Given the description of an element on the screen output the (x, y) to click on. 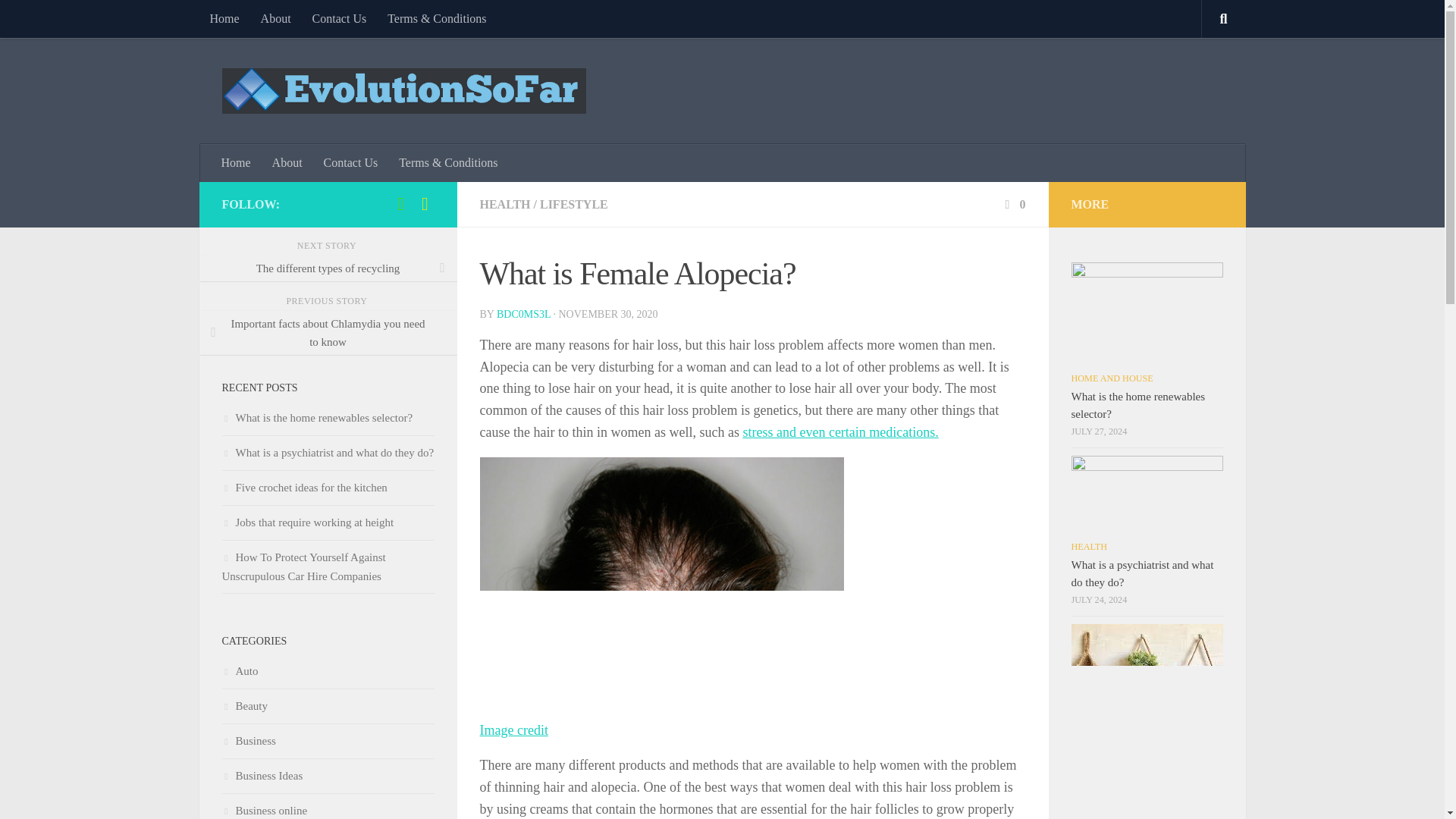
Contact Us (339, 18)
Home (223, 18)
Image credit (513, 729)
0 (1013, 204)
About (275, 18)
BDC0MS3L (523, 314)
stress and even certain medications. (839, 432)
Posts by bdc0ms3l (523, 314)
HEALTH (504, 204)
About (287, 162)
